Given the description of an element on the screen output the (x, y) to click on. 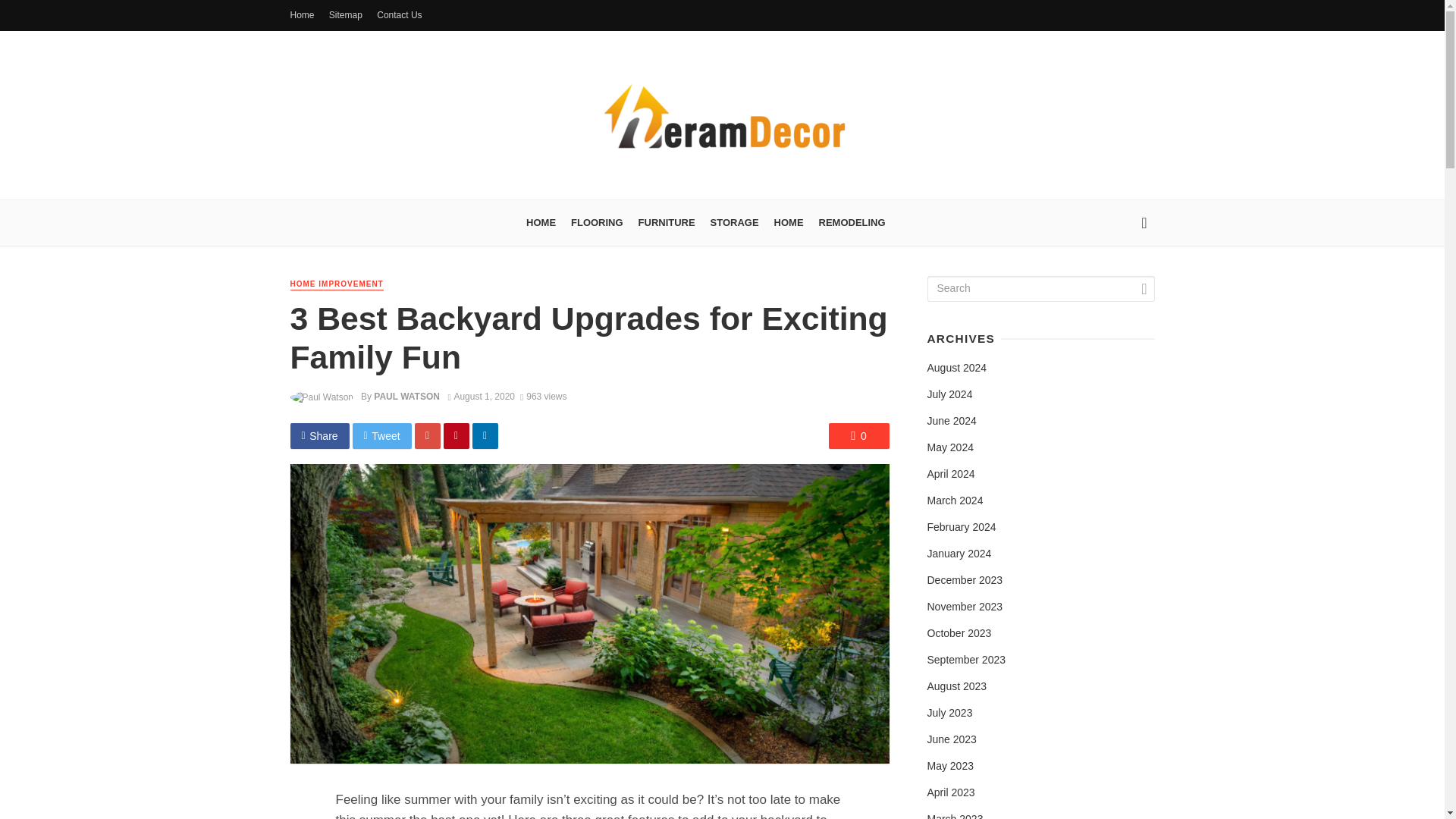
Posts by Paul Watson (406, 396)
May 2024 (949, 447)
July 2024 (949, 394)
PAUL WATSON (406, 396)
Contact Us (399, 14)
Share on Linkedin (484, 435)
REMODELING (851, 222)
August 2024 (956, 368)
Tweet (382, 435)
FLOORING (596, 222)
0 Comments (858, 435)
April 2024 (950, 474)
HOME IMPROVEMENT (335, 284)
Sitemap (345, 14)
Share on Facebook (319, 435)
